Given the description of an element on the screen output the (x, y) to click on. 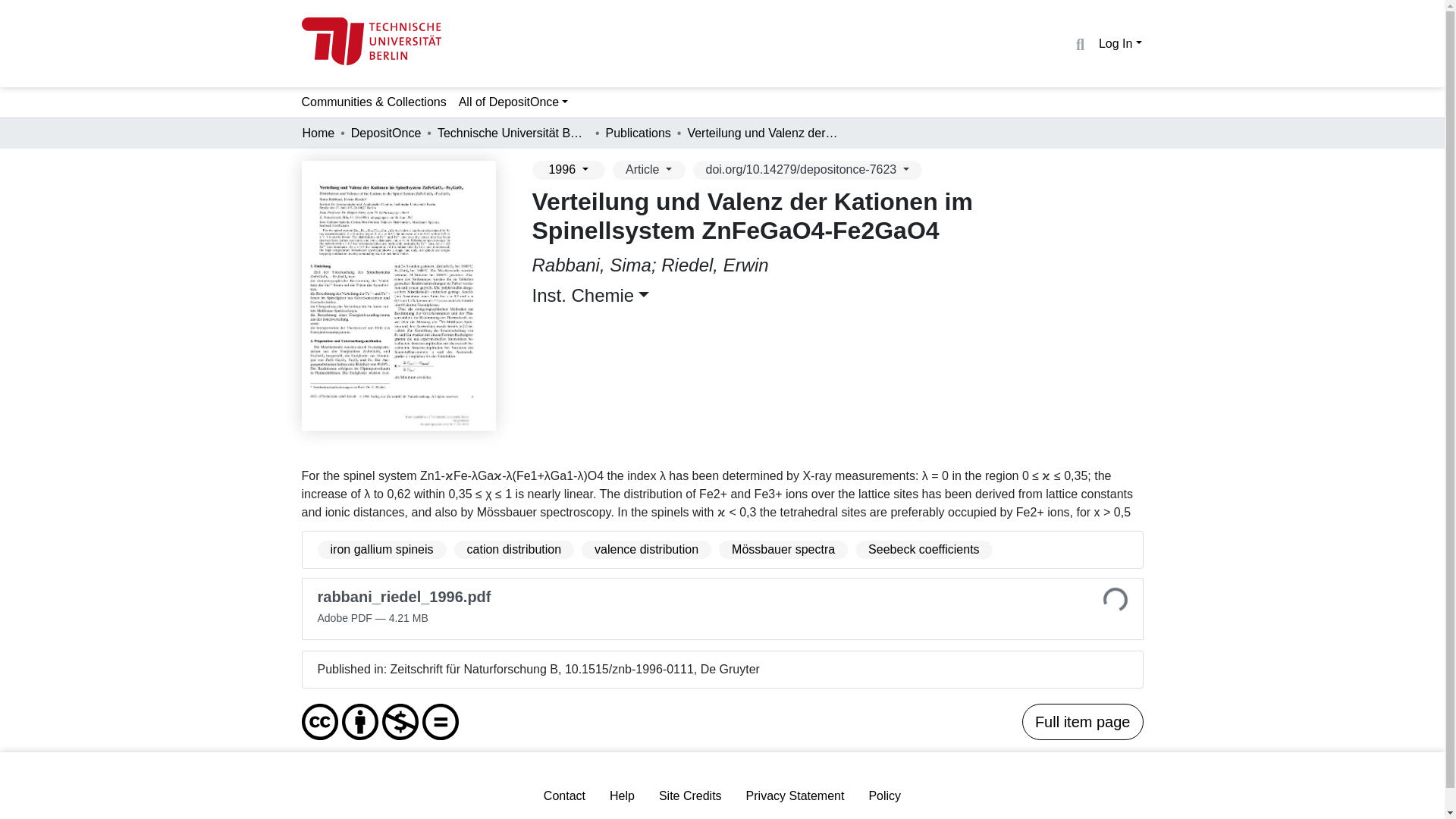
DepositOnce (386, 133)
Seebeck coefficients (923, 549)
TU Berlin (371, 40)
Site Credits (689, 796)
Contact (563, 796)
Inst. Chemie (590, 295)
Publications (638, 133)
Log In (1119, 42)
Policy (884, 796)
iron gallium spineis (381, 549)
cation distribution (514, 549)
Privacy Statement (795, 796)
Help (621, 796)
All of DepositOnce (513, 101)
Full item page (1082, 721)
